Given the description of an element on the screen output the (x, y) to click on. 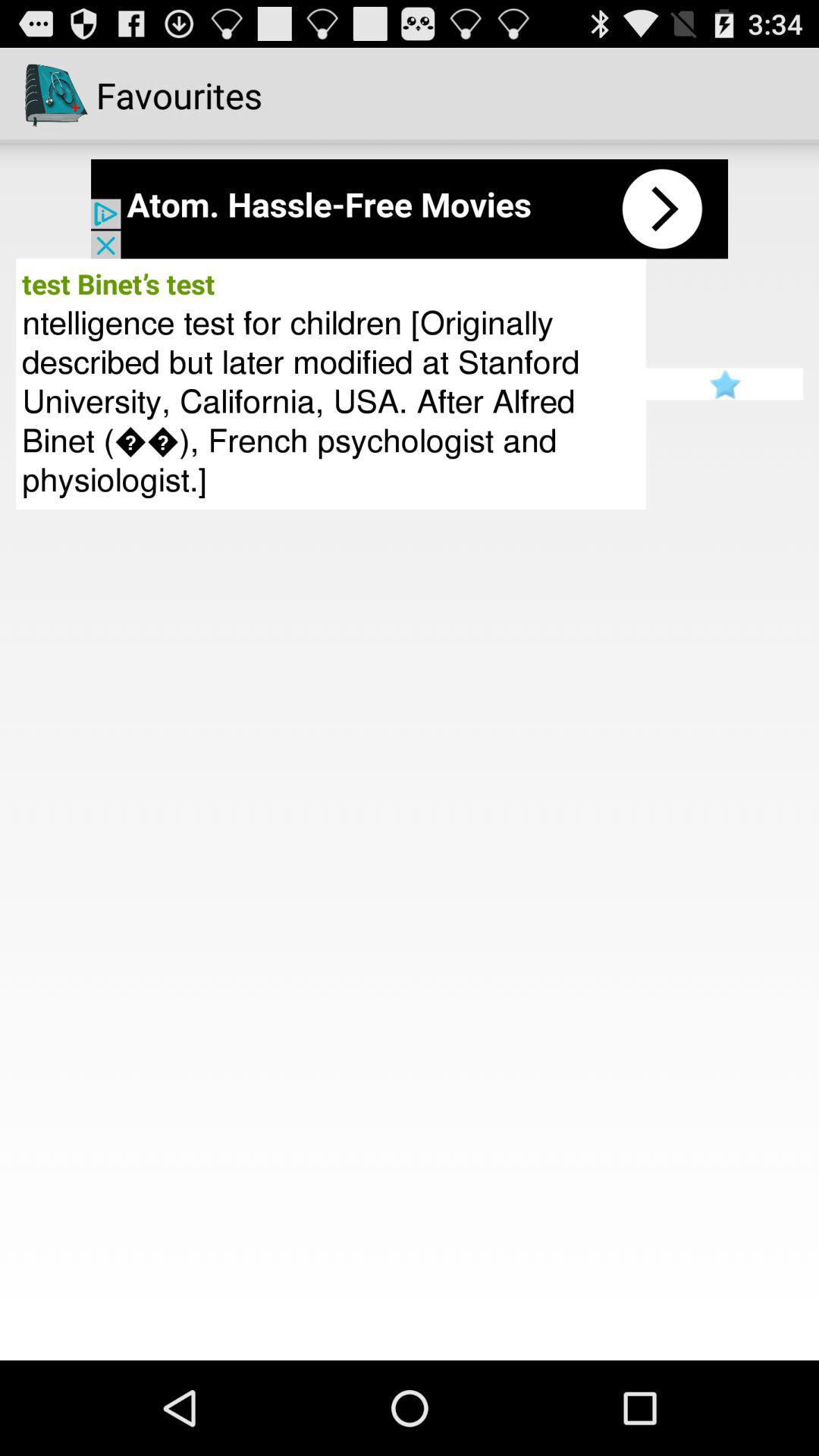
paid advertisement (409, 208)
